Given the description of an element on the screen output the (x, y) to click on. 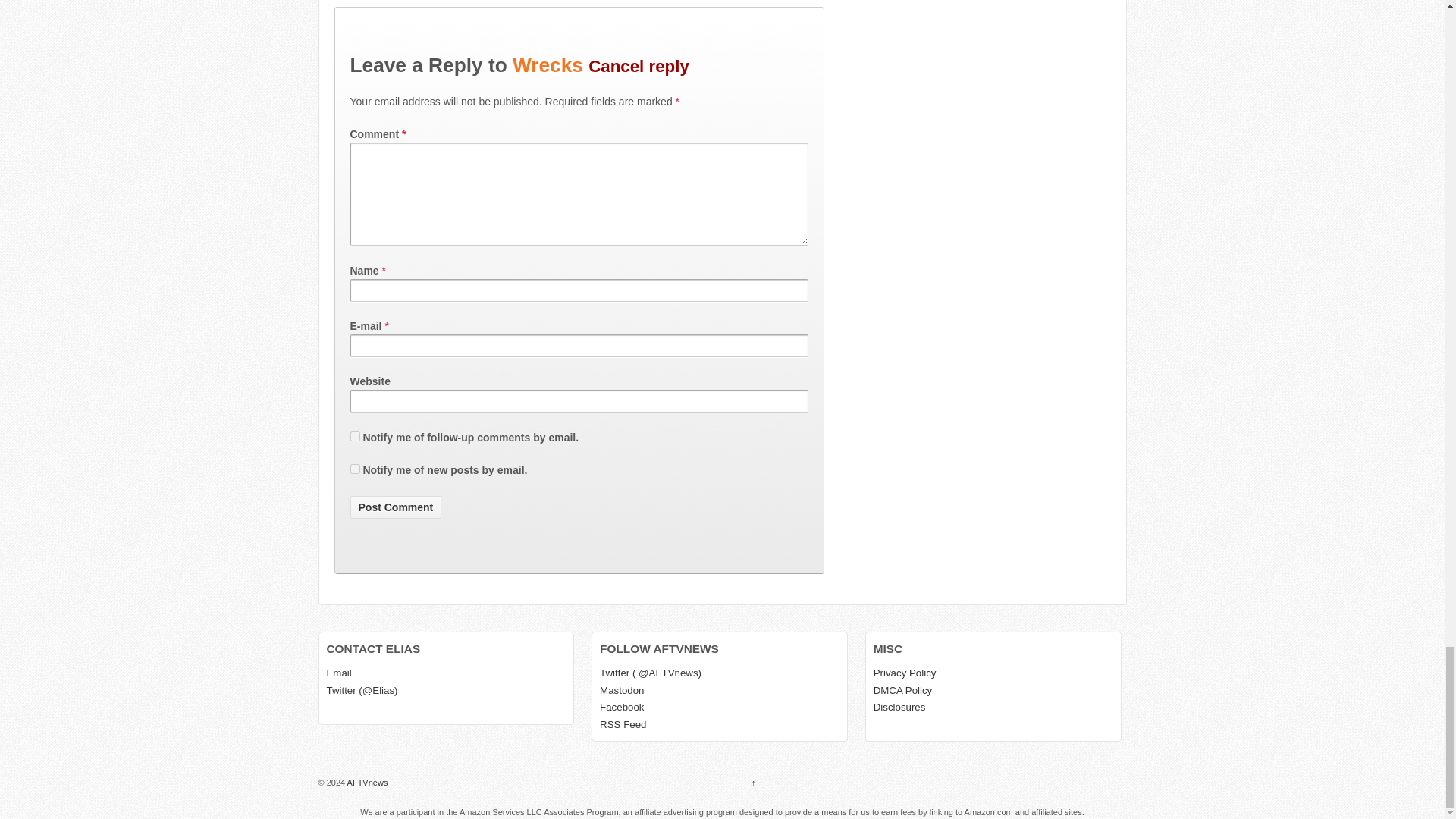
subscribe (354, 436)
subscribe (354, 469)
Post Comment (396, 507)
